Given the description of an element on the screen output the (x, y) to click on. 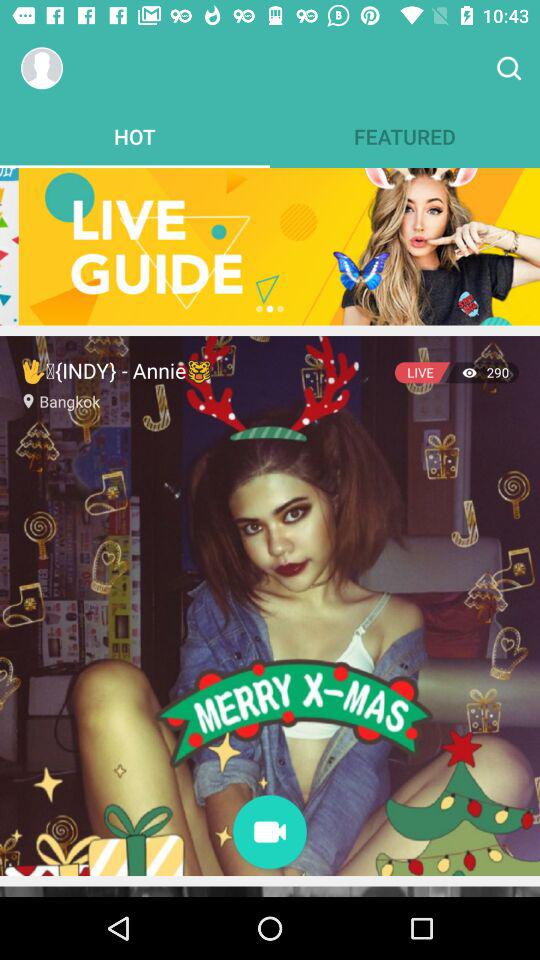
go to profile (42, 68)
